Given the description of an element on the screen output the (x, y) to click on. 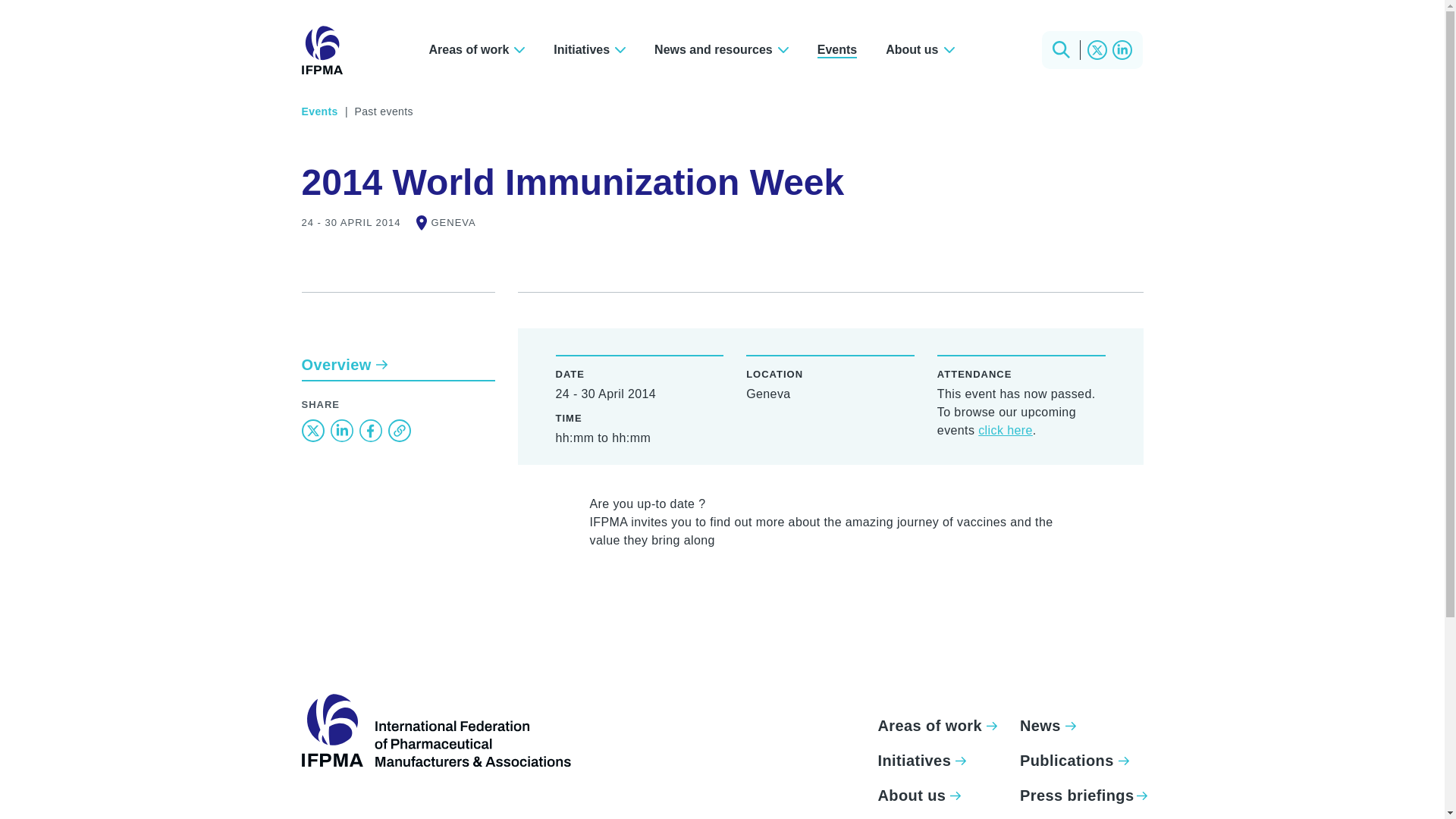
Initiatives (589, 49)
Areas of work (475, 49)
IFPMA (435, 729)
News and resources (721, 49)
Overview (398, 364)
